Given the description of an element on the screen output the (x, y) to click on. 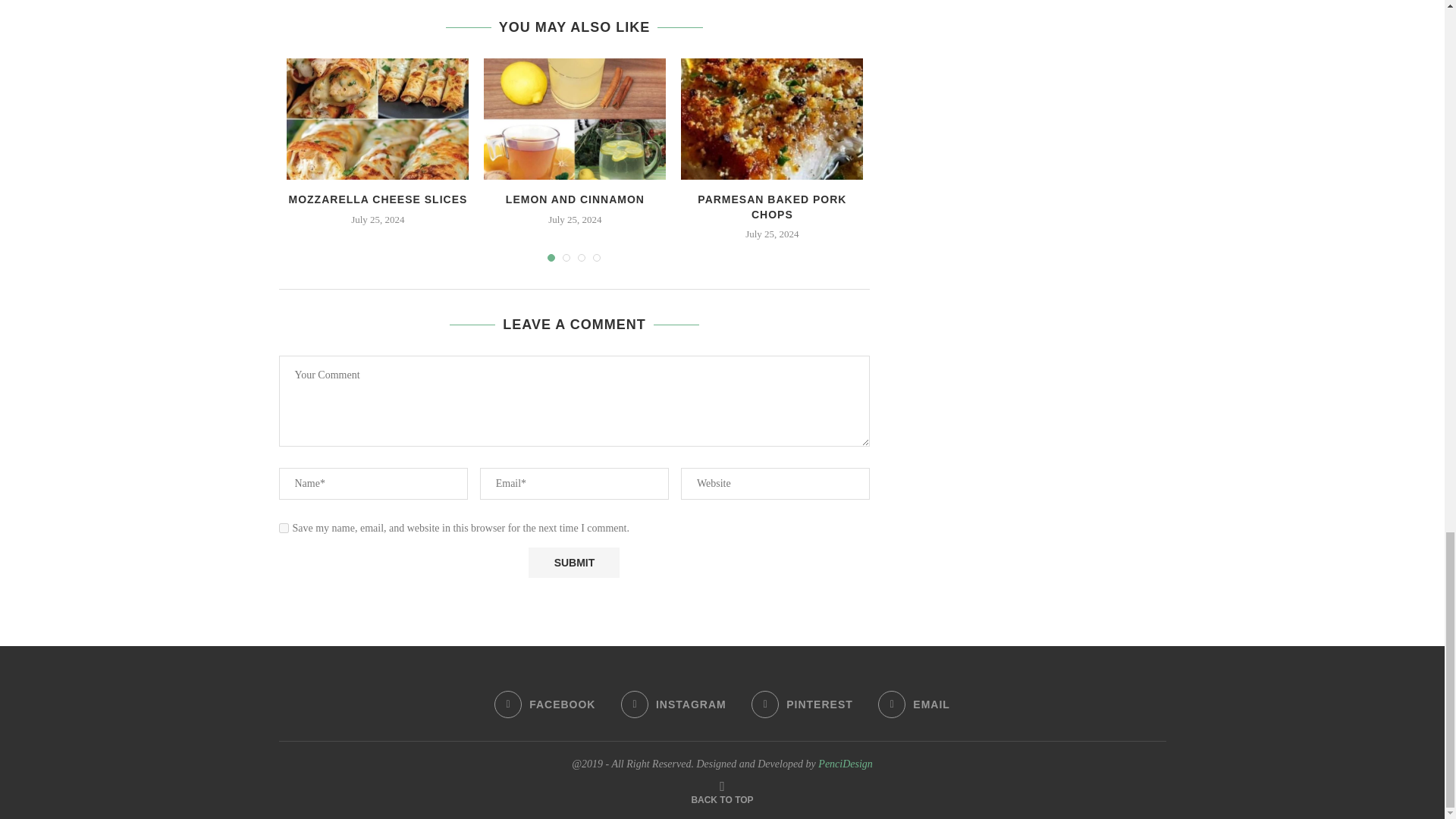
Submit (574, 562)
yes (283, 528)
Mozzarella cheese slices (377, 118)
Lemon and Cinnamon (574, 118)
